Given the description of an element on the screen output the (x, y) to click on. 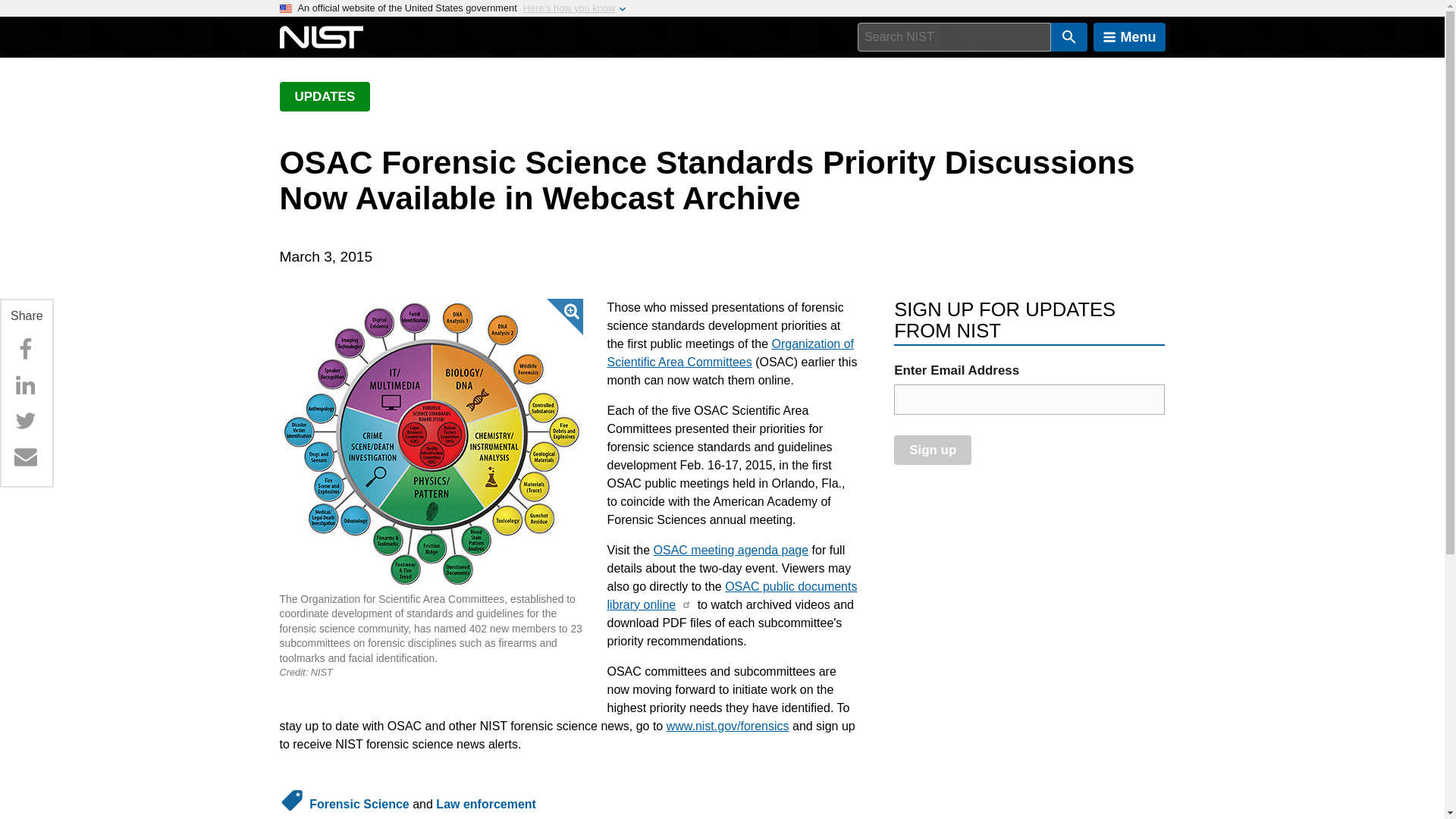
Menu (1129, 36)
National Institute of Standards and Technology (320, 36)
Organization of Scientific Area Committees (730, 352)
Email (25, 456)
email (1028, 399)
OSAC meeting agenda page (731, 549)
Linkedin (25, 385)
OSAC public documents library online (732, 594)
Facebook (25, 349)
Sign up (932, 449)
Forensic Science (358, 803)
Law enforcement (485, 803)
Sign up (932, 449)
UPDATES (324, 96)
